Given the description of an element on the screen output the (x, y) to click on. 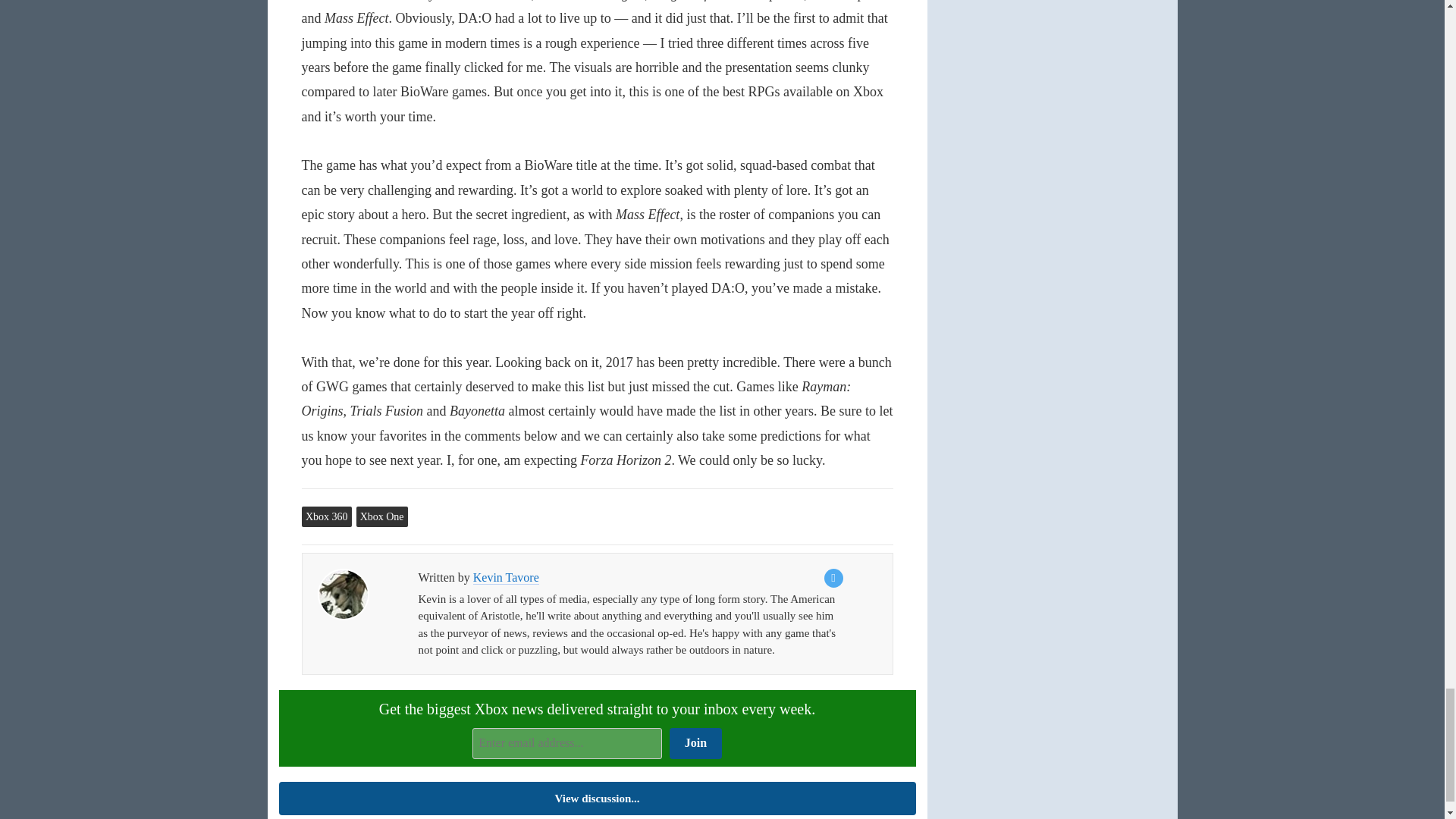
Kevin Tavore (342, 593)
Twitter (833, 578)
